Given the description of an element on the screen output the (x, y) to click on. 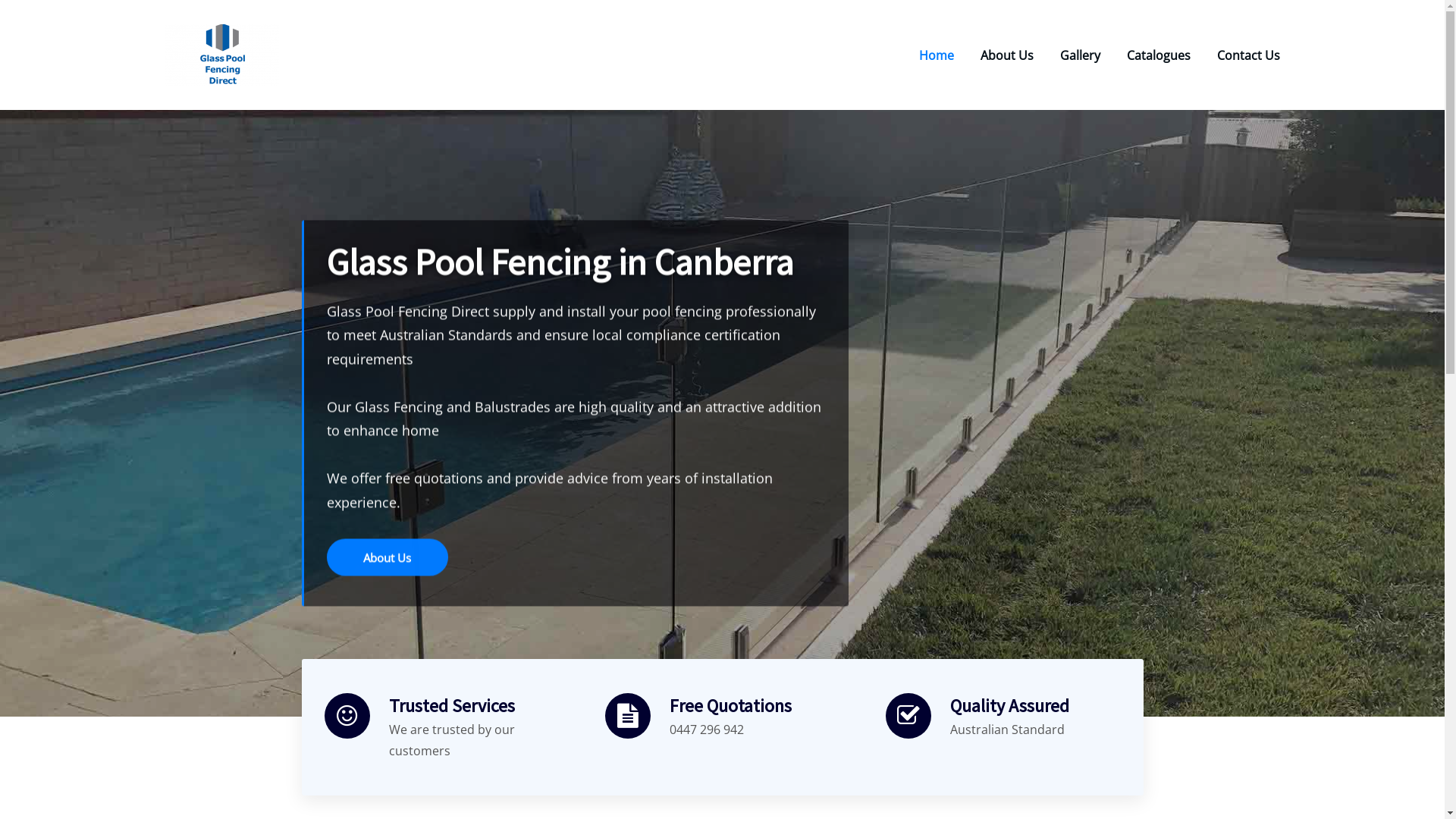
About Us Element type: text (386, 557)
Contact Us Element type: text (1247, 54)
Home Element type: text (936, 54)
About Us Element type: text (1005, 54)
Gallery Element type: text (1080, 54)
Catalogues Element type: text (1158, 54)
